Given the description of an element on the screen output the (x, y) to click on. 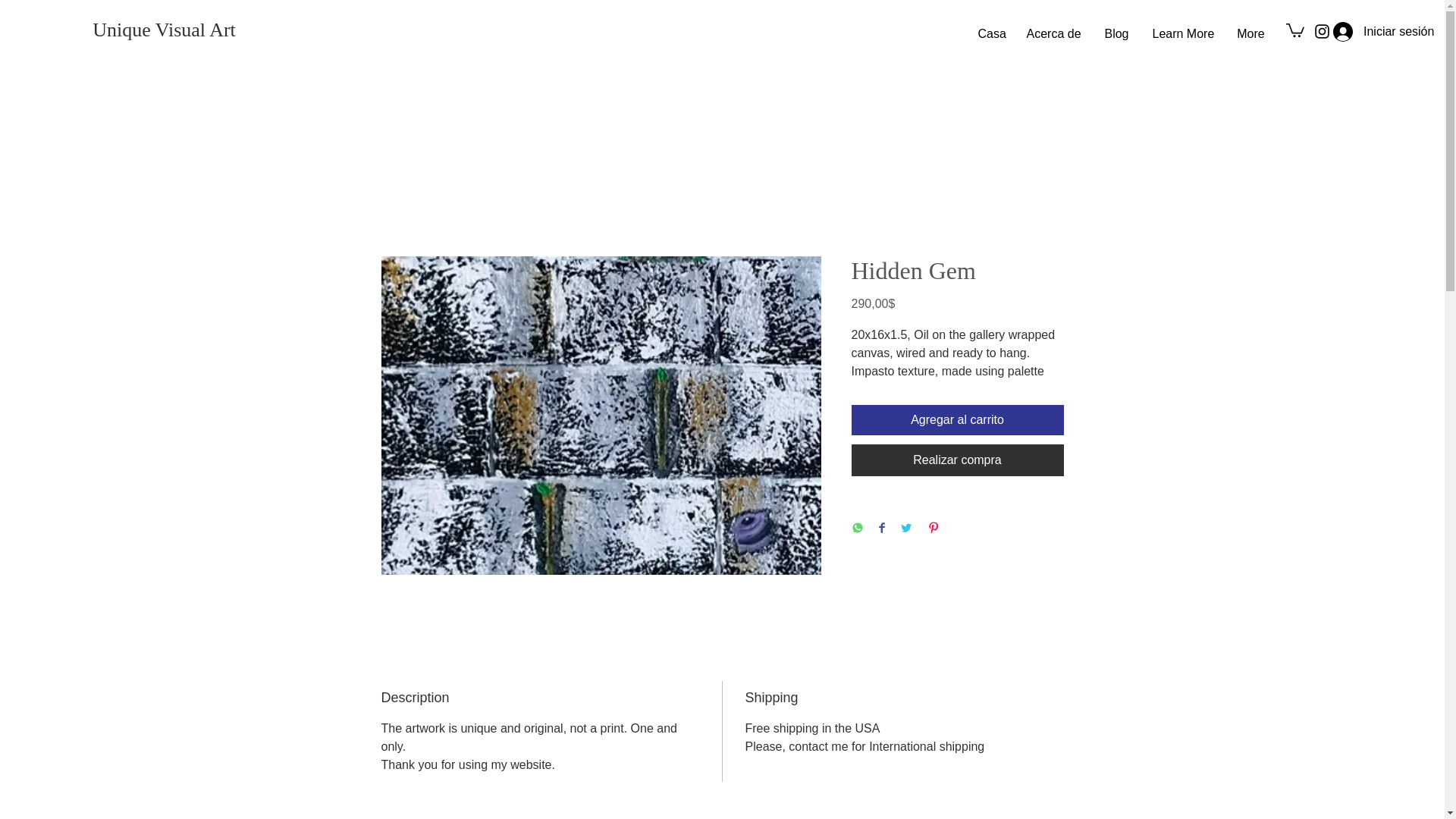
Agregar al carrito (956, 419)
Unique Visual Art (164, 30)
Casa (990, 34)
Acerca de (1053, 34)
Realizar compra (956, 459)
Blog (1116, 34)
